Given the description of an element on the screen output the (x, y) to click on. 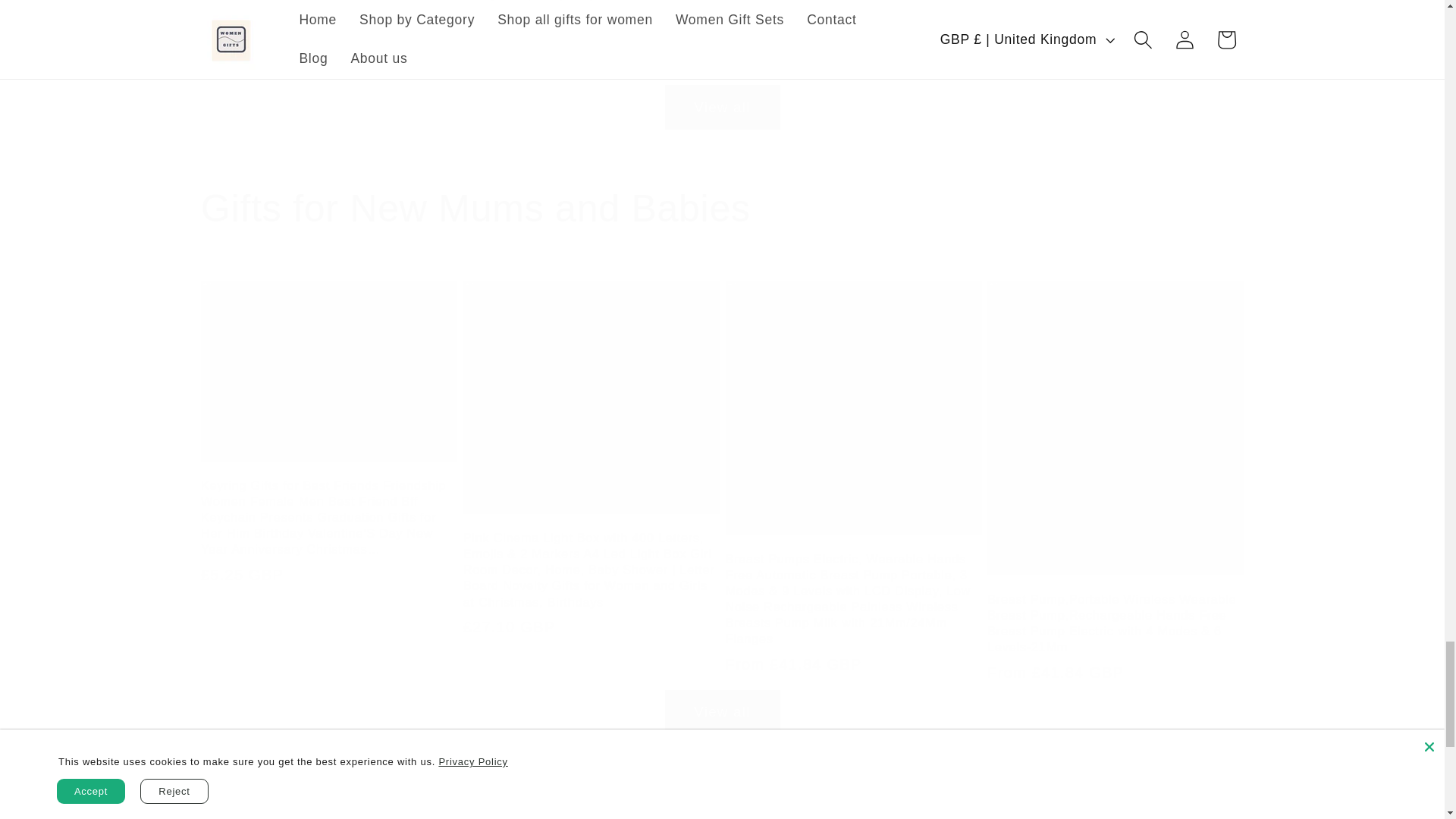
Gifts for New Mums and Babies (721, 207)
